Given the description of an element on the screen output the (x, y) to click on. 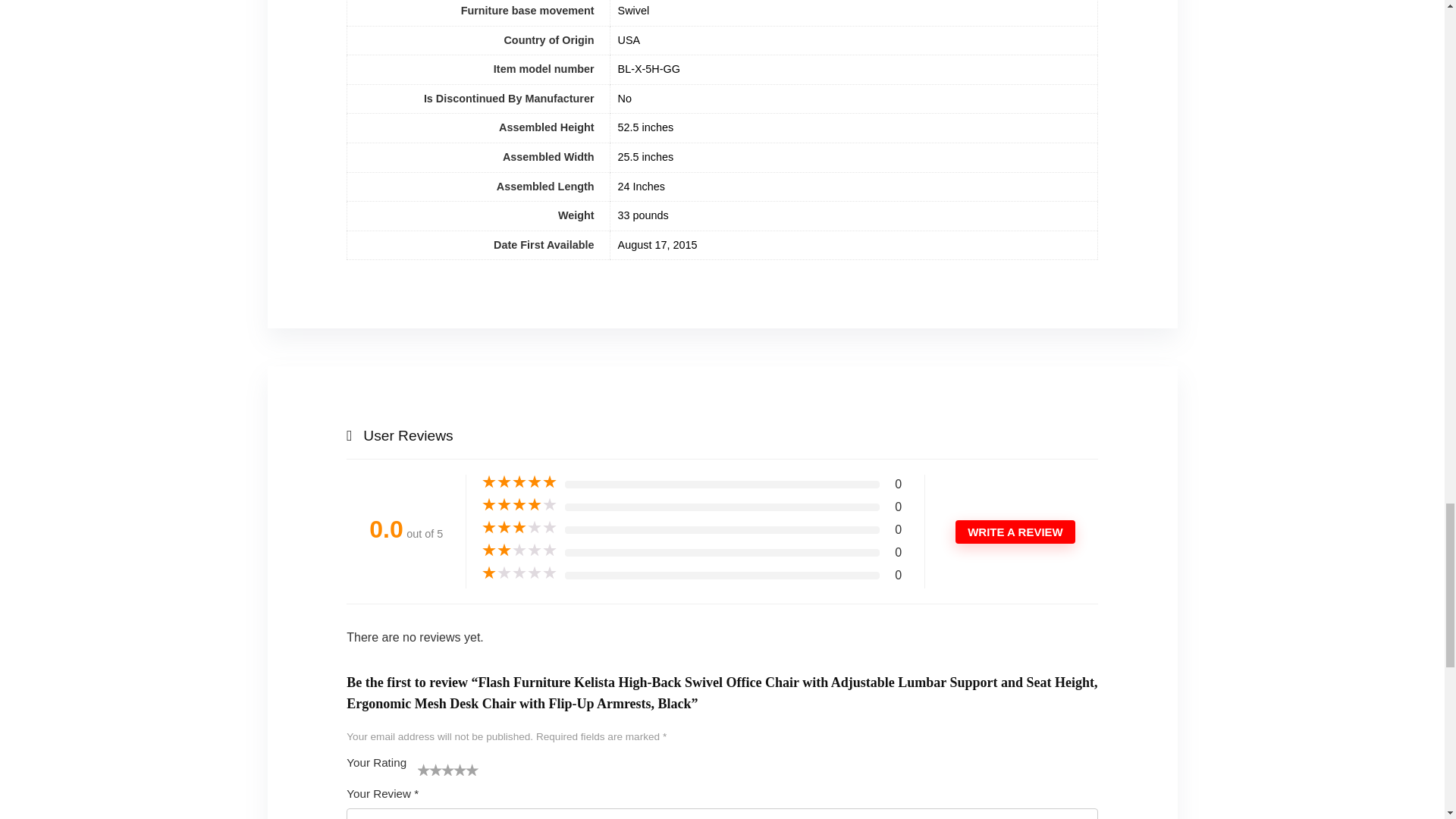
Rated 4 out of 5 (519, 504)
Rated 2 out of 5 (519, 549)
Rated 5 out of 5 (519, 482)
WRITE A REVIEW (1015, 531)
Rated 1 out of 5 (519, 572)
Rated 3 out of 5 (519, 527)
